Given the description of an element on the screen output the (x, y) to click on. 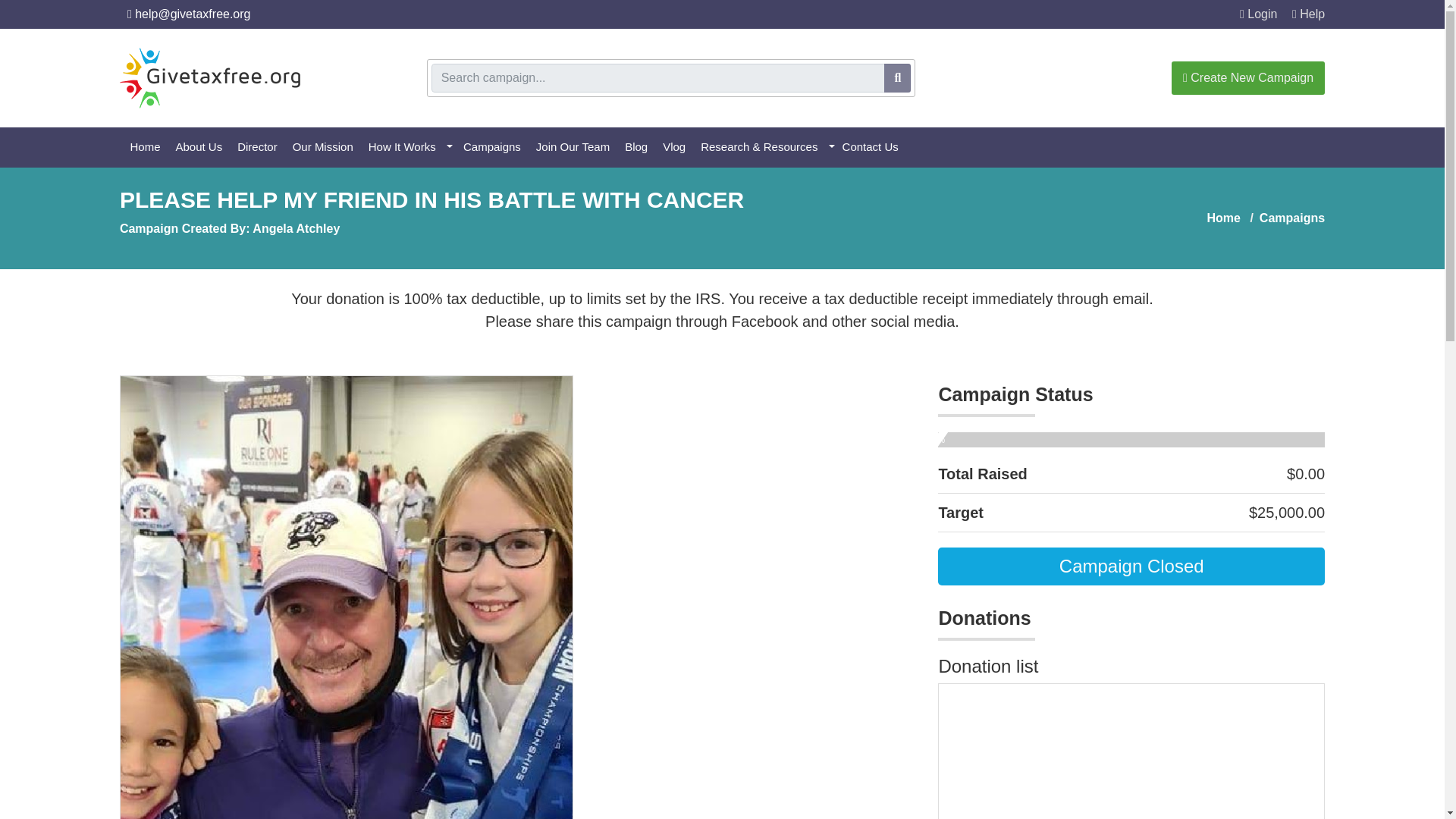
Create New Campaign (1248, 78)
Director (264, 147)
Vlog (681, 147)
 Campaigns (497, 147)
Campaigns (1283, 216)
Vlog (681, 147)
Home (151, 147)
Director (264, 147)
Join Our Team (579, 147)
Campaigns (497, 147)
Help (1308, 13)
How It Works (414, 147)
Blog (643, 147)
Login (1258, 13)
About Us (205, 147)
